Given the description of an element on the screen output the (x, y) to click on. 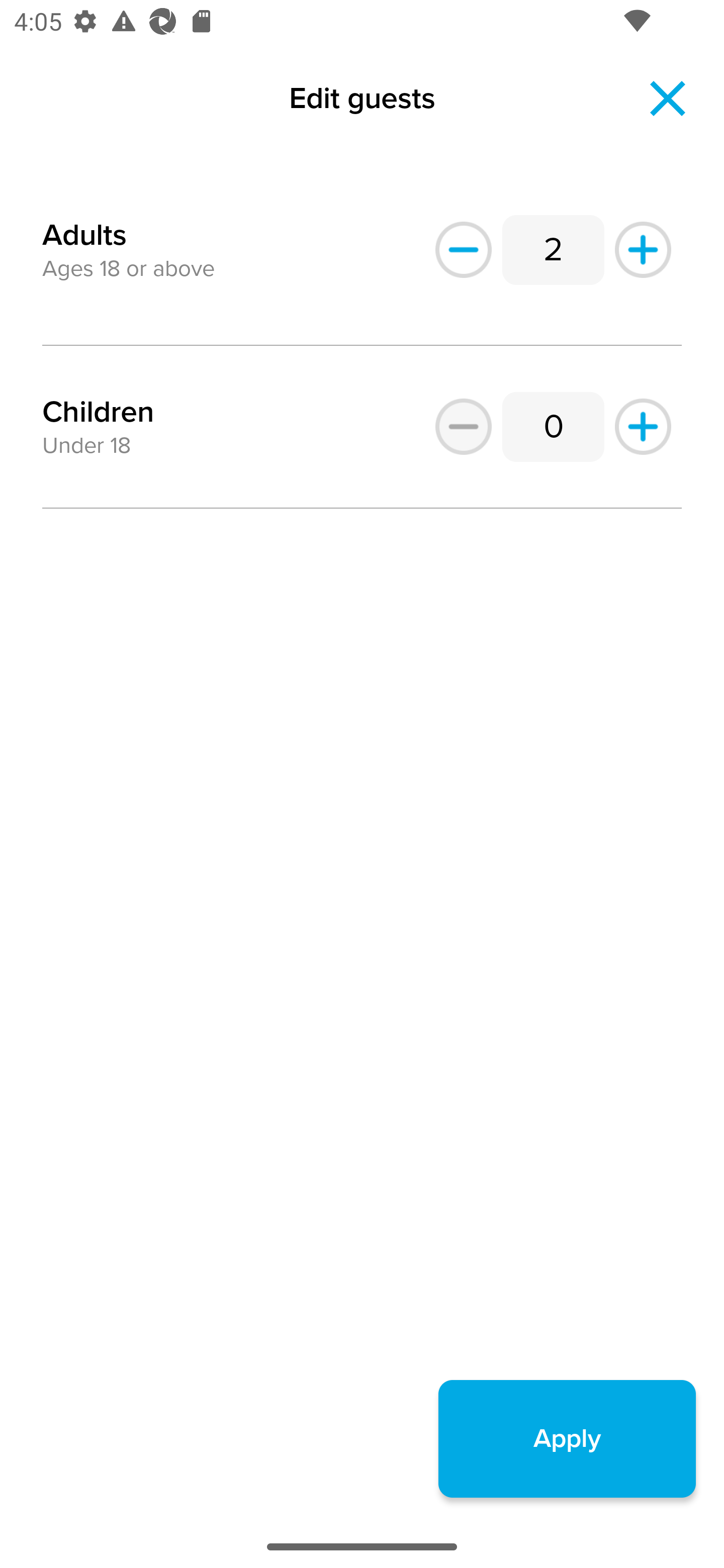
Adults (83, 223)
Children (97, 412)
Apply (566, 1438)
